Given the description of an element on the screen output the (x, y) to click on. 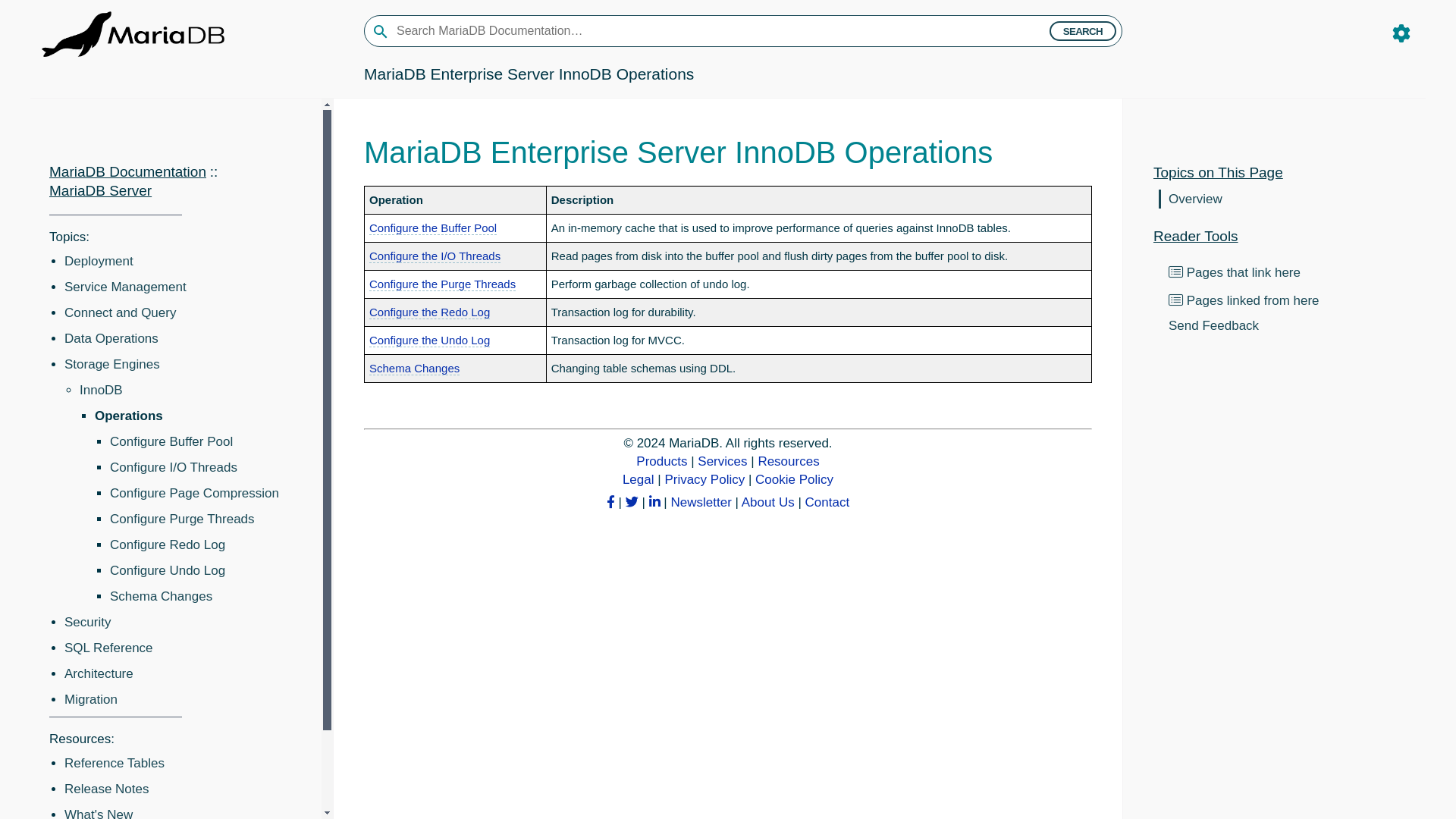
Search (1082, 30)
Storage Engines (112, 364)
Search (1082, 30)
Configure Buffer Pool (171, 441)
Search (1082, 30)
MariaDB (132, 32)
Data Operations (111, 338)
Configure Page Compression (194, 493)
MariaDB Documentation (127, 171)
Menu (1400, 36)
Deployment (98, 260)
Service Management (125, 287)
MariaDB Server (100, 190)
InnoDB (101, 390)
Connect and Query (120, 312)
